Given the description of an element on the screen output the (x, y) to click on. 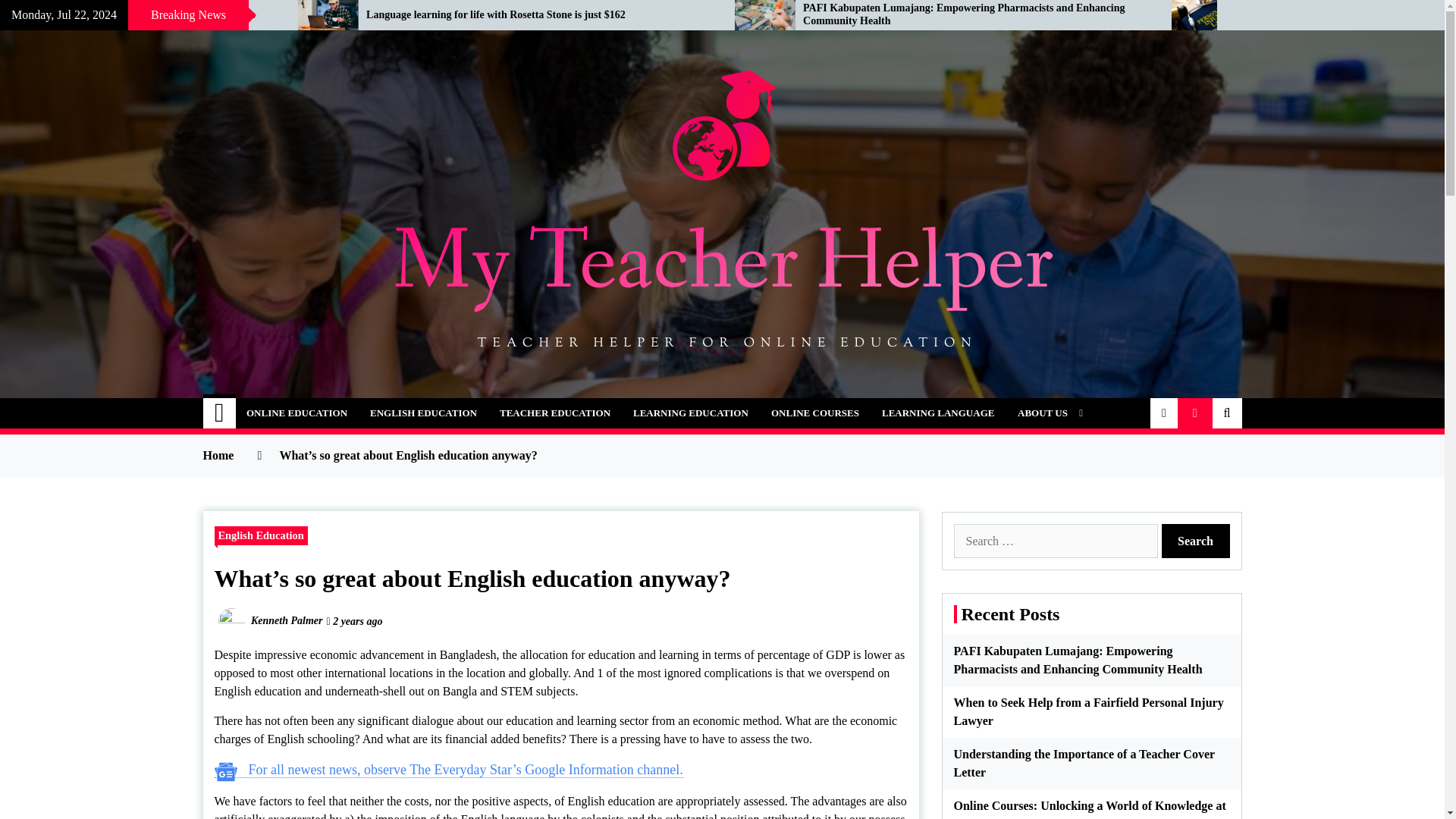
Search (1195, 540)
Home (219, 413)
Search (1195, 540)
